Given the description of an element on the screen output the (x, y) to click on. 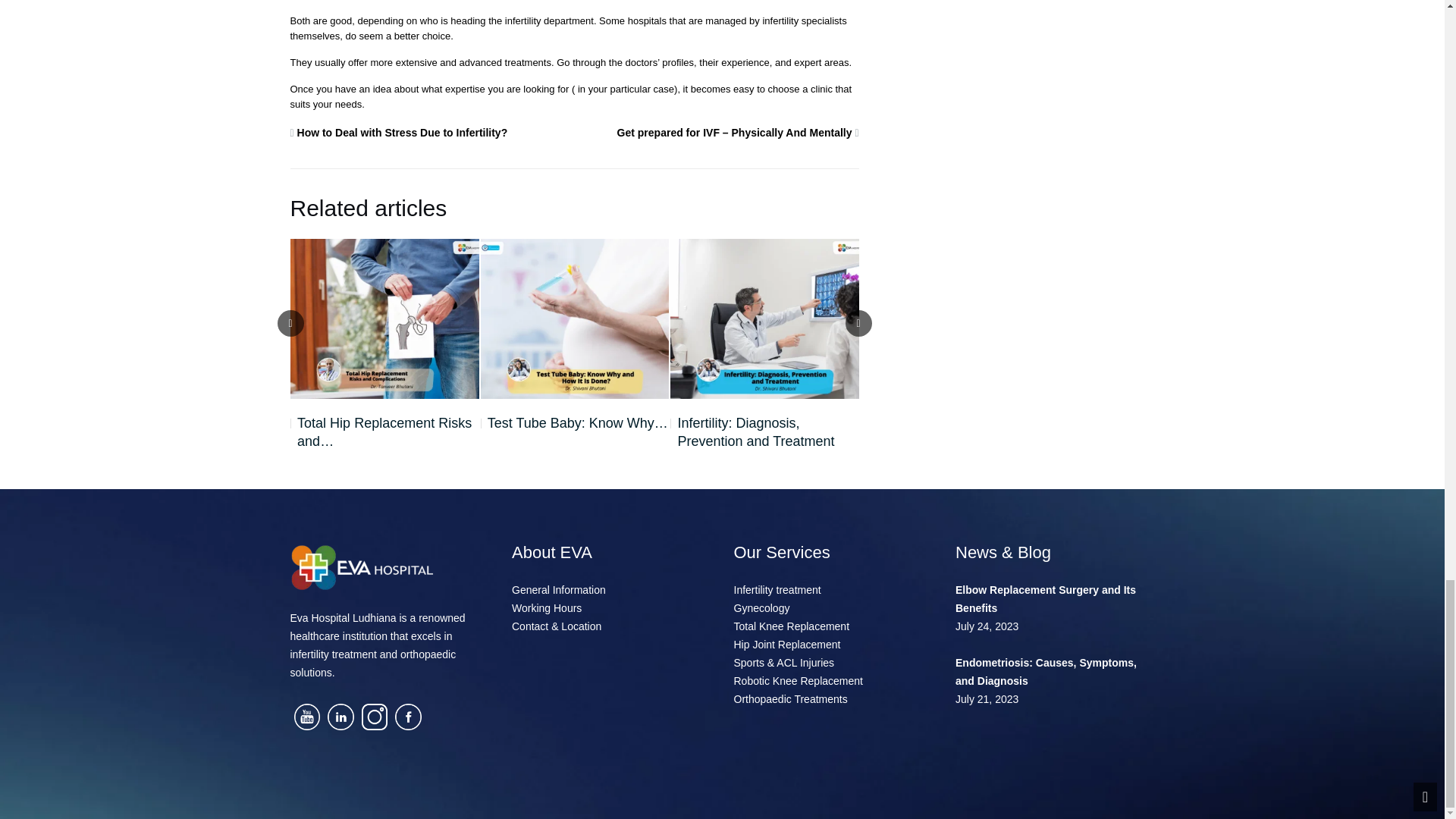
How to Deal with Stress Due to Infertility? (402, 132)
